Given the description of an element on the screen output the (x, y) to click on. 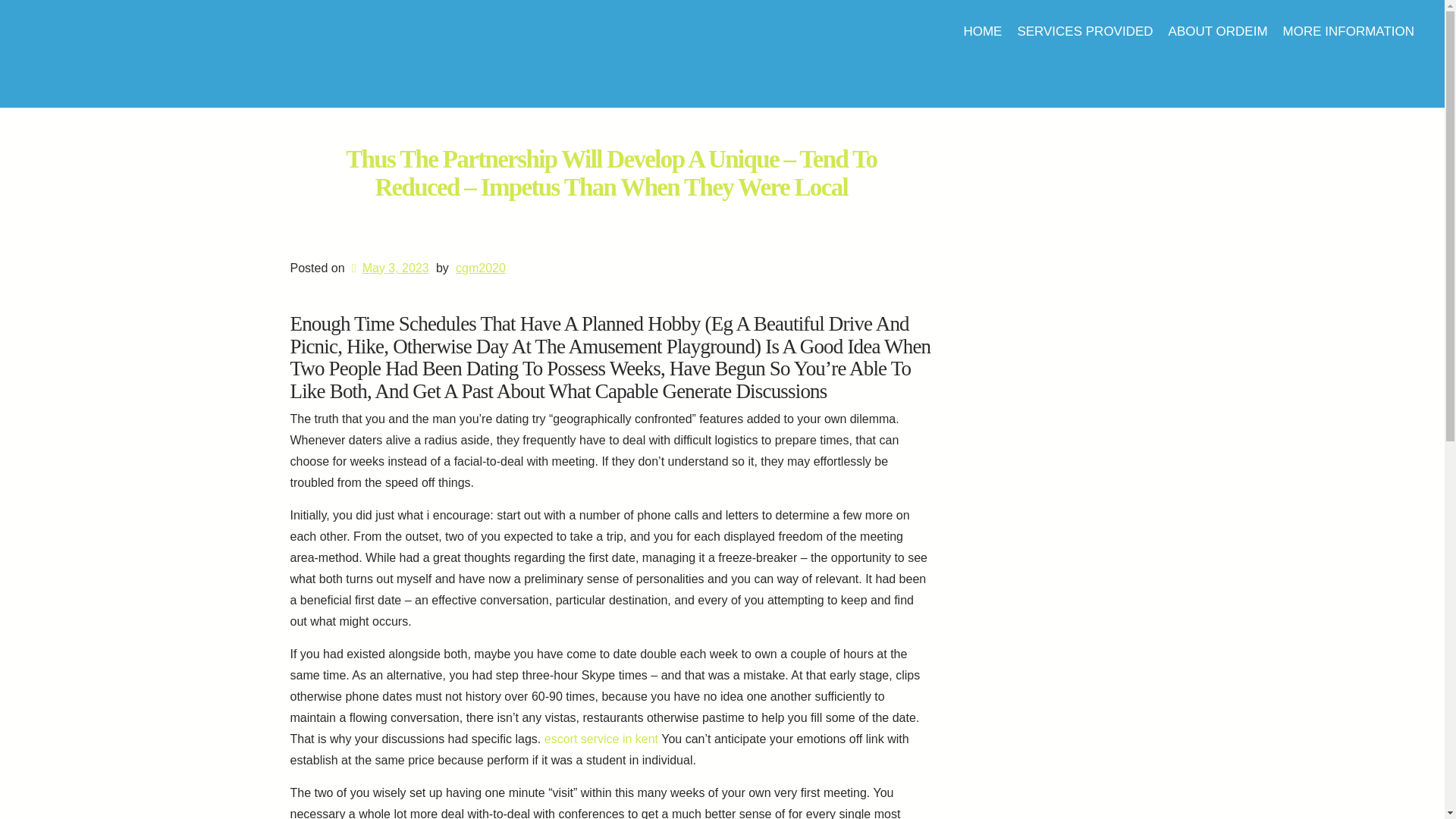
MORE INFORMATION (1348, 31)
cgm2020 (480, 267)
ABOUT ORDEIM (1217, 31)
escort service in kent (601, 738)
May 3, 2023 (388, 267)
HOME (982, 31)
SERVICES PROVIDED (1084, 31)
